Given the description of an element on the screen output the (x, y) to click on. 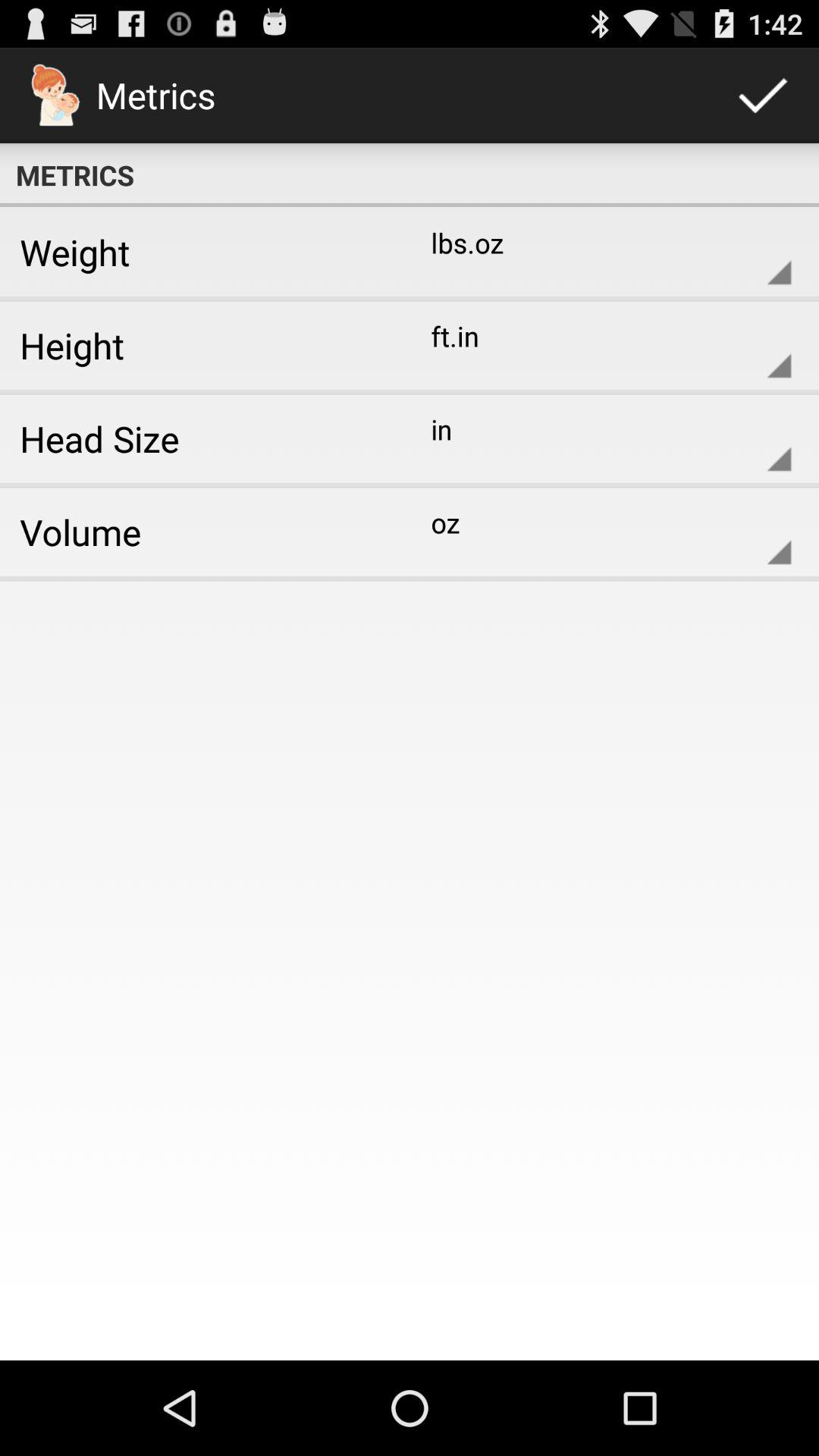
select item next to metrics app (763, 95)
